Given the description of an element on the screen output the (x, y) to click on. 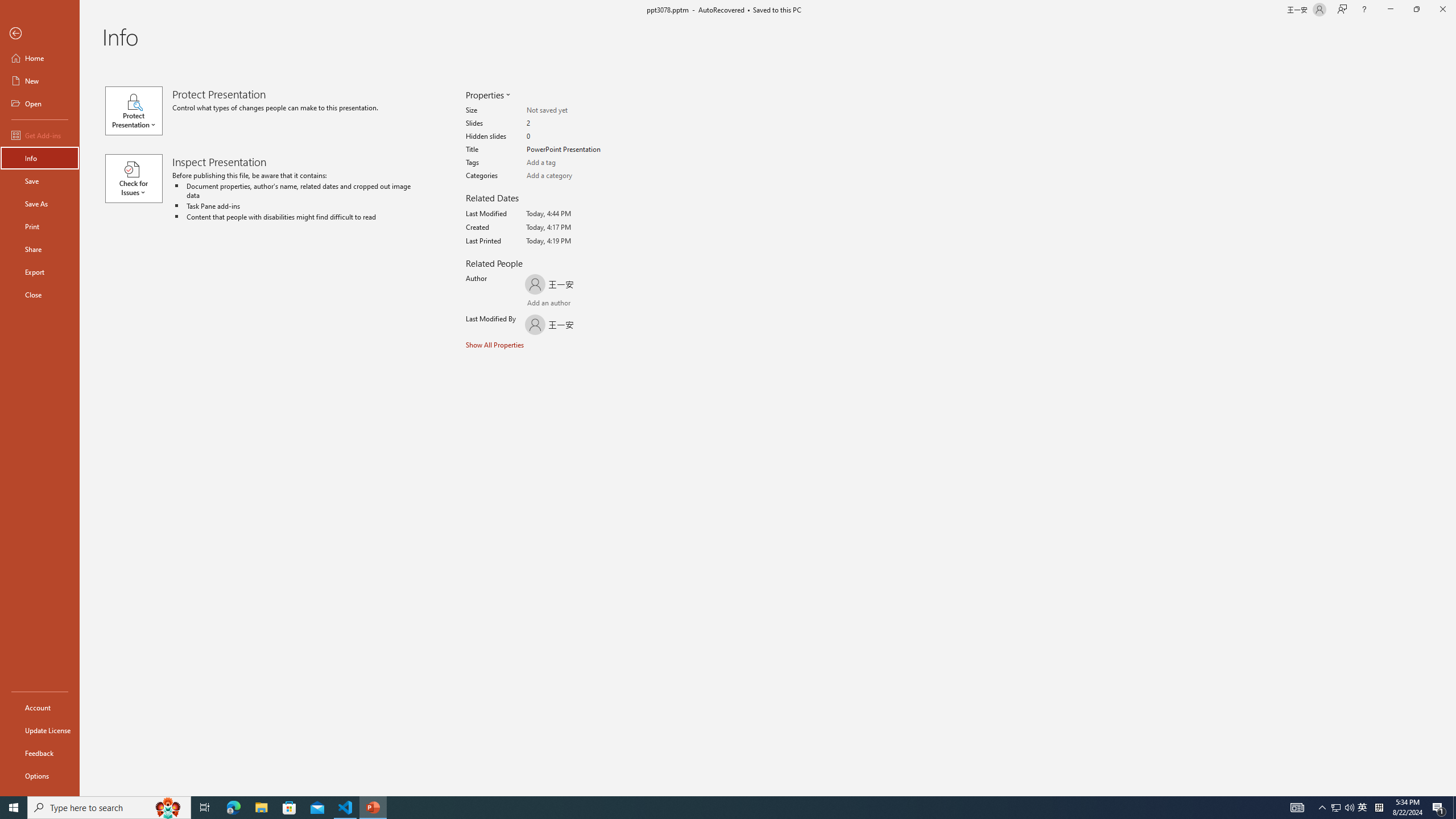
Check for Issues (137, 178)
Show All Properties (495, 343)
Size (571, 110)
Get Add-ins (40, 134)
Title (571, 149)
Properties (486, 94)
Categories (571, 175)
New (40, 80)
Info (40, 157)
